Given the description of an element on the screen output the (x, y) to click on. 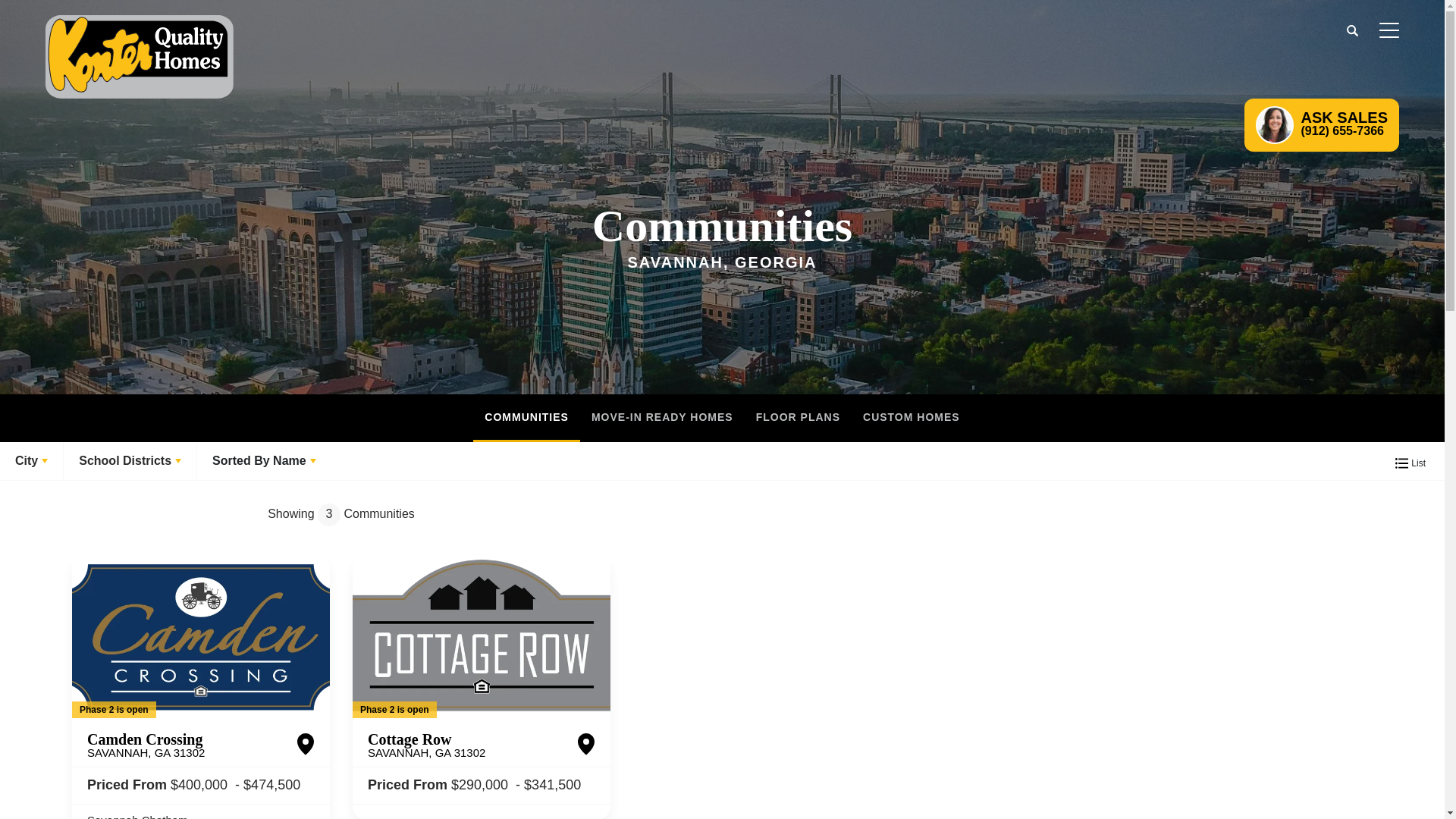
Toggle Menu (146, 745)
FLOOR PLANS (1388, 30)
COMMUNITIES (426, 745)
CUSTOM HOMES (797, 417)
MOVE-IN READY HOMES (526, 417)
Search (911, 417)
